Given the description of an element on the screen output the (x, y) to click on. 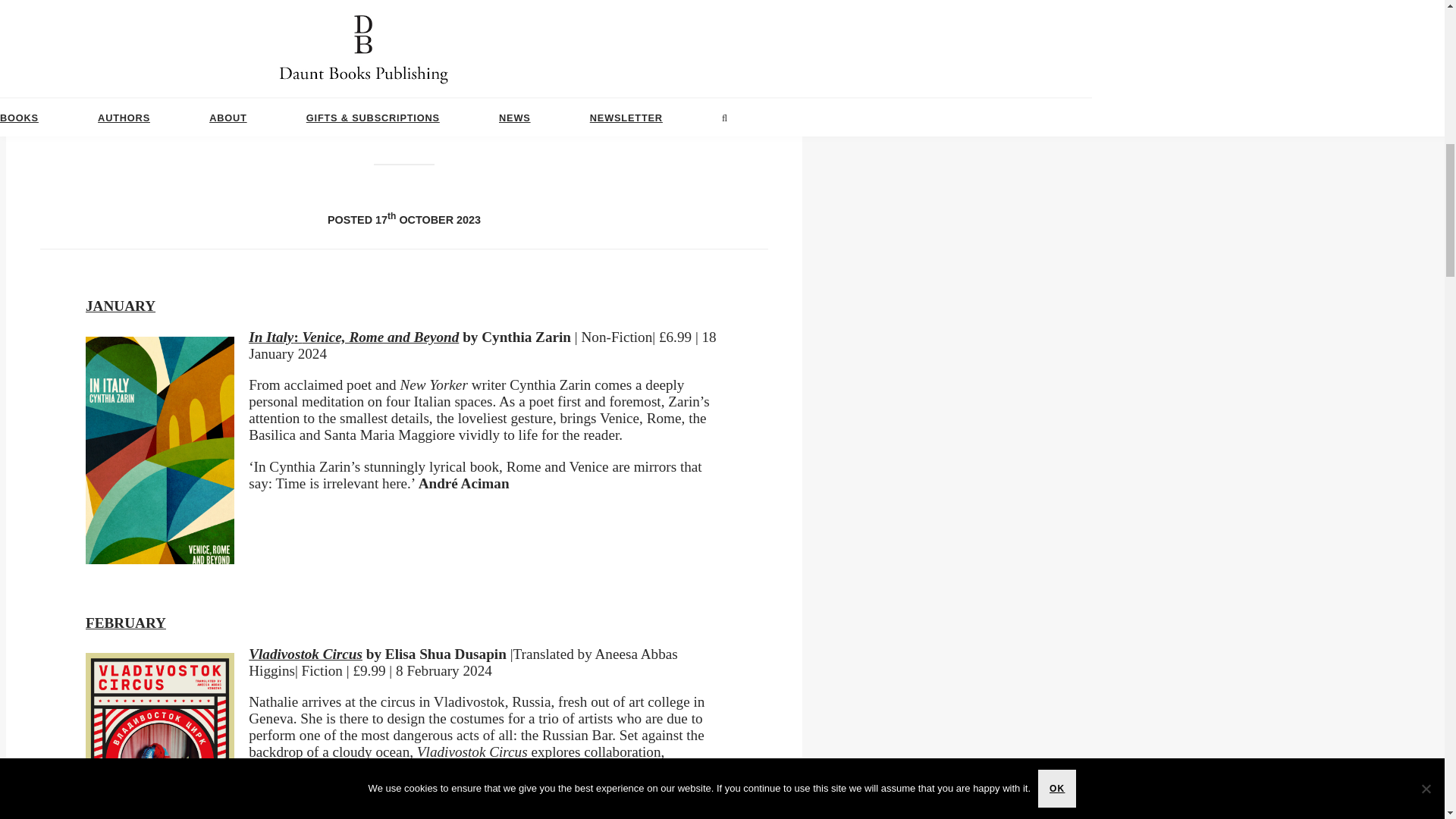
In Italy: Venice, Rome and Beyond (353, 336)
Vladivostok Circus (305, 653)
